Given the description of an element on the screen output the (x, y) to click on. 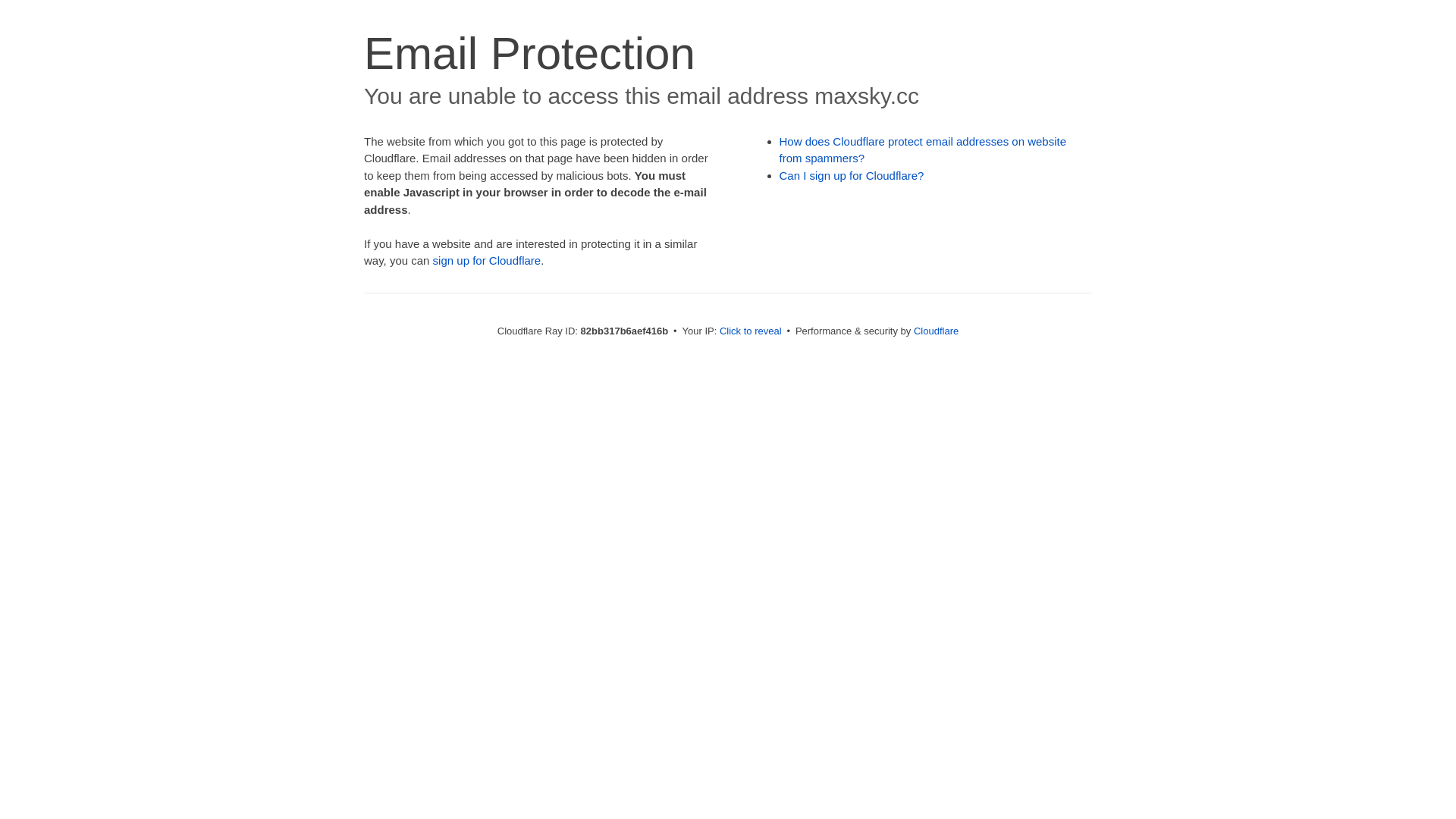
Cloudflare Element type: text (935, 330)
sign up for Cloudflare Element type: text (487, 260)
Can I sign up for Cloudflare? Element type: text (851, 175)
Click to reveal Element type: text (750, 330)
